Given the description of an element on the screen output the (x, y) to click on. 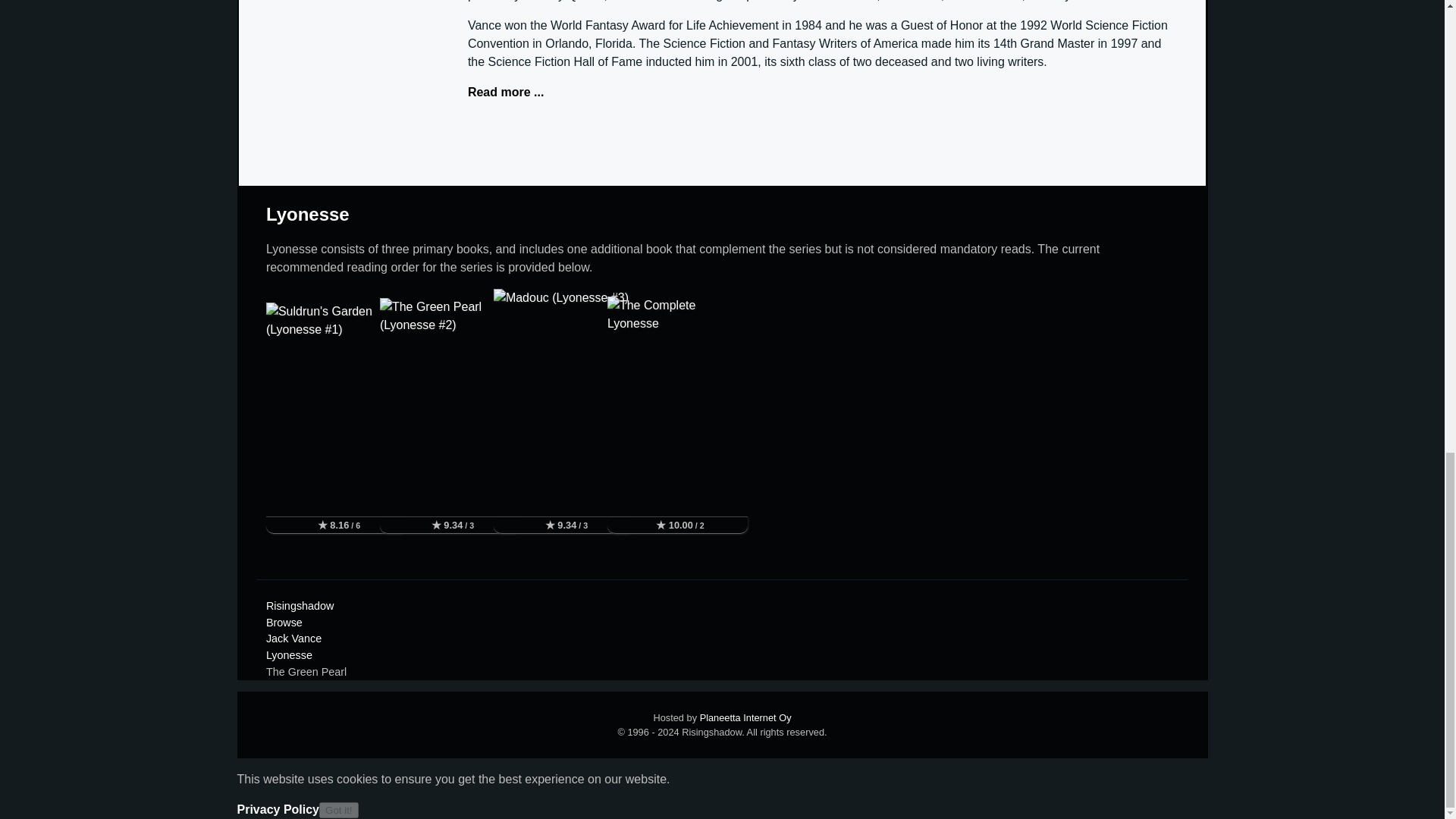
The Complete Lyonesse by Jack Vance (677, 406)
